Given the description of an element on the screen output the (x, y) to click on. 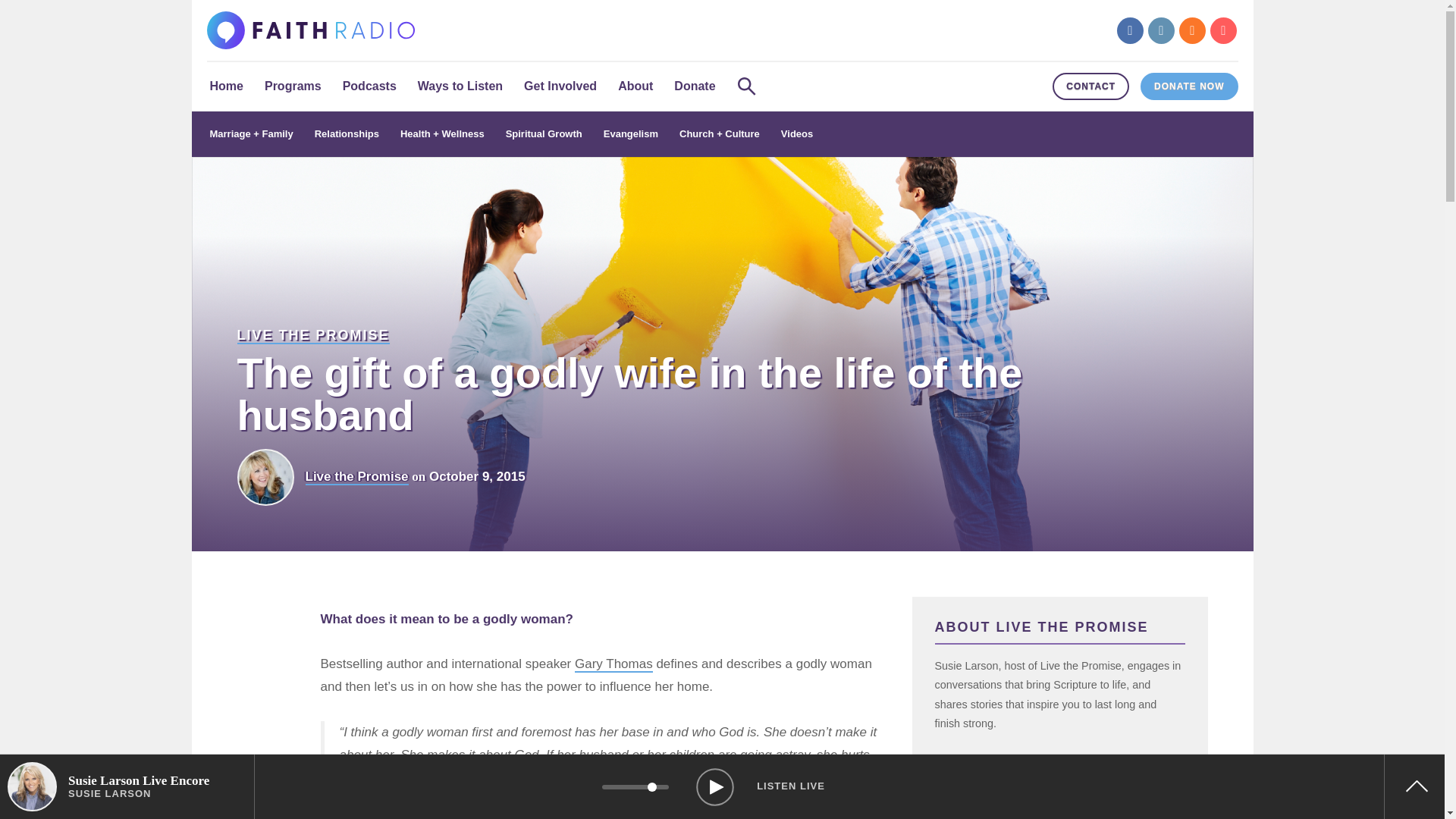
Podcasts (369, 86)
Ways to Listen (460, 86)
Instagram (1161, 29)
Home (225, 86)
CONTACT (1090, 85)
RSS (1192, 29)
Gary L. Thomas (613, 664)
Programs (292, 86)
Facebook (1129, 29)
Youtube (1222, 29)
Donate (694, 86)
Get Involved (560, 86)
About (635, 86)
DONATE NOW (1188, 85)
